Given the description of an element on the screen output the (x, y) to click on. 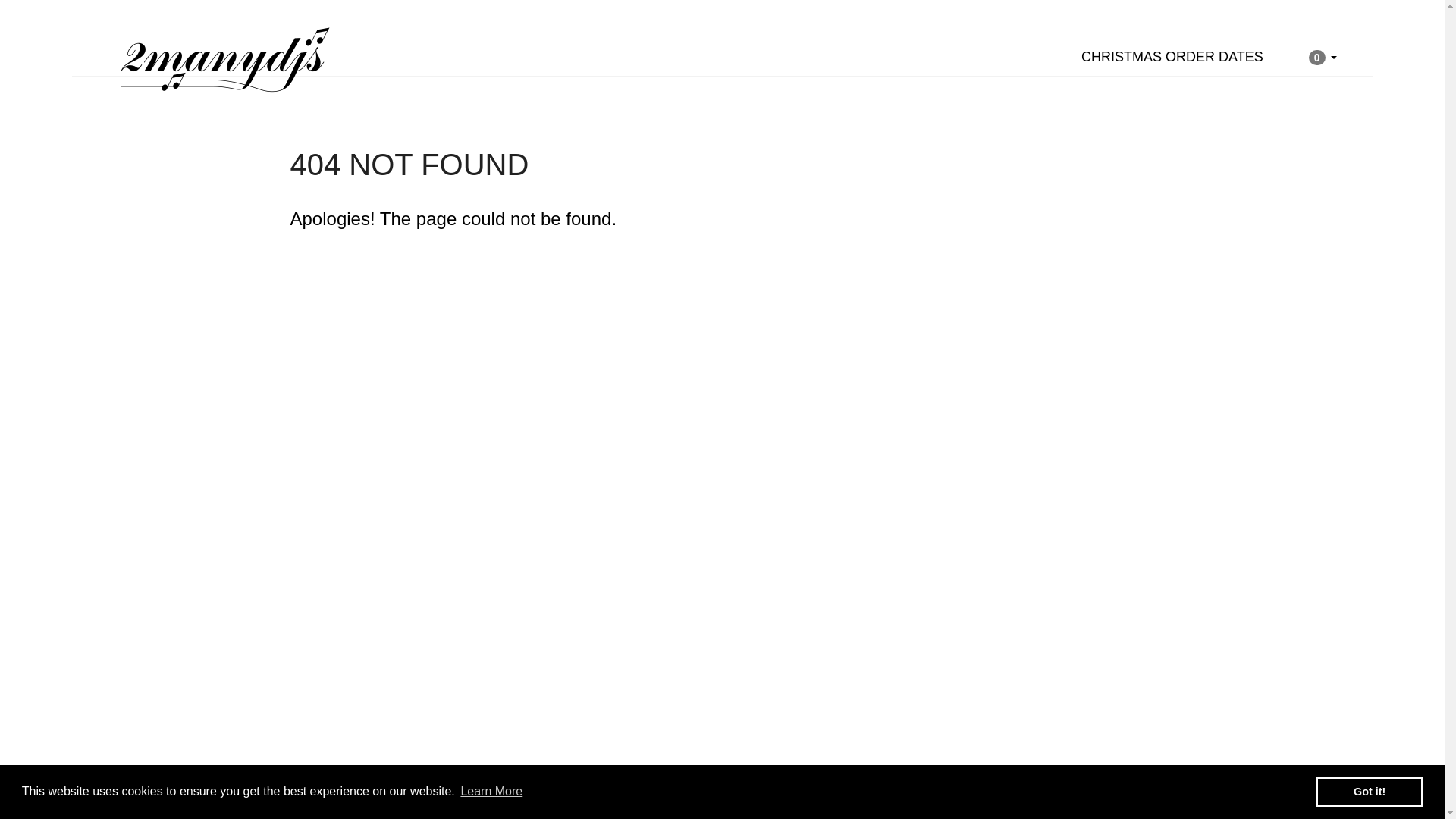
SANDBAG Element type: text (1003, 778)
Terms & Conditions Element type: text (735, 777)
0 Element type: text (1322, 56)
Learn More Element type: text (491, 791)
Got it! Element type: text (1369, 791)
Christmas Order Dates Element type: text (474, 777)
GDPR Privacy Policy Element type: text (610, 777)
CHRISTMAS ORDER DATES Element type: text (1172, 56)
Help Element type: text (817, 777)
2manydjs Element type: text (890, 778)
